Given the description of an element on the screen output the (x, y) to click on. 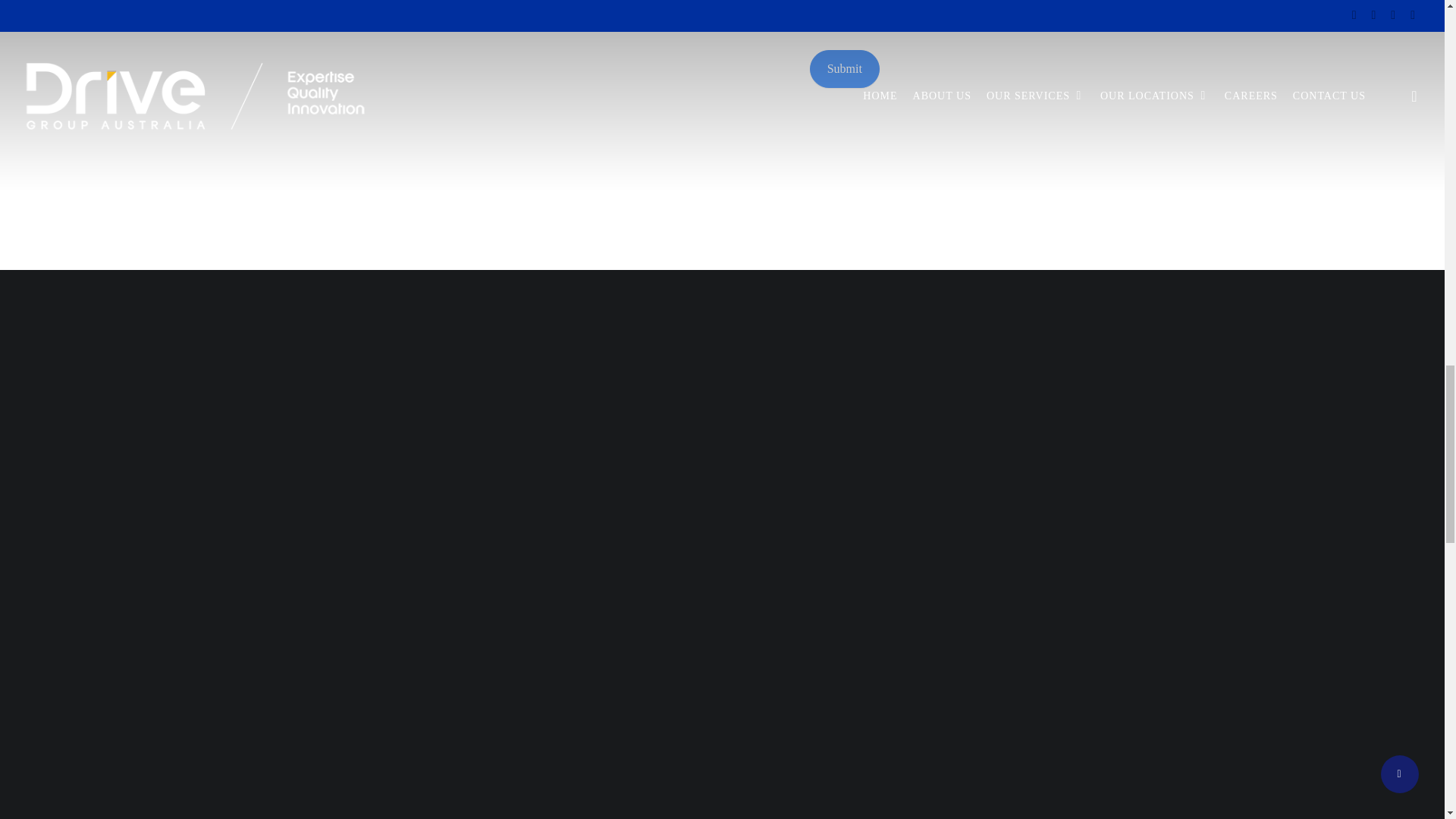
Submit (844, 68)
